Given the description of an element on the screen output the (x, y) to click on. 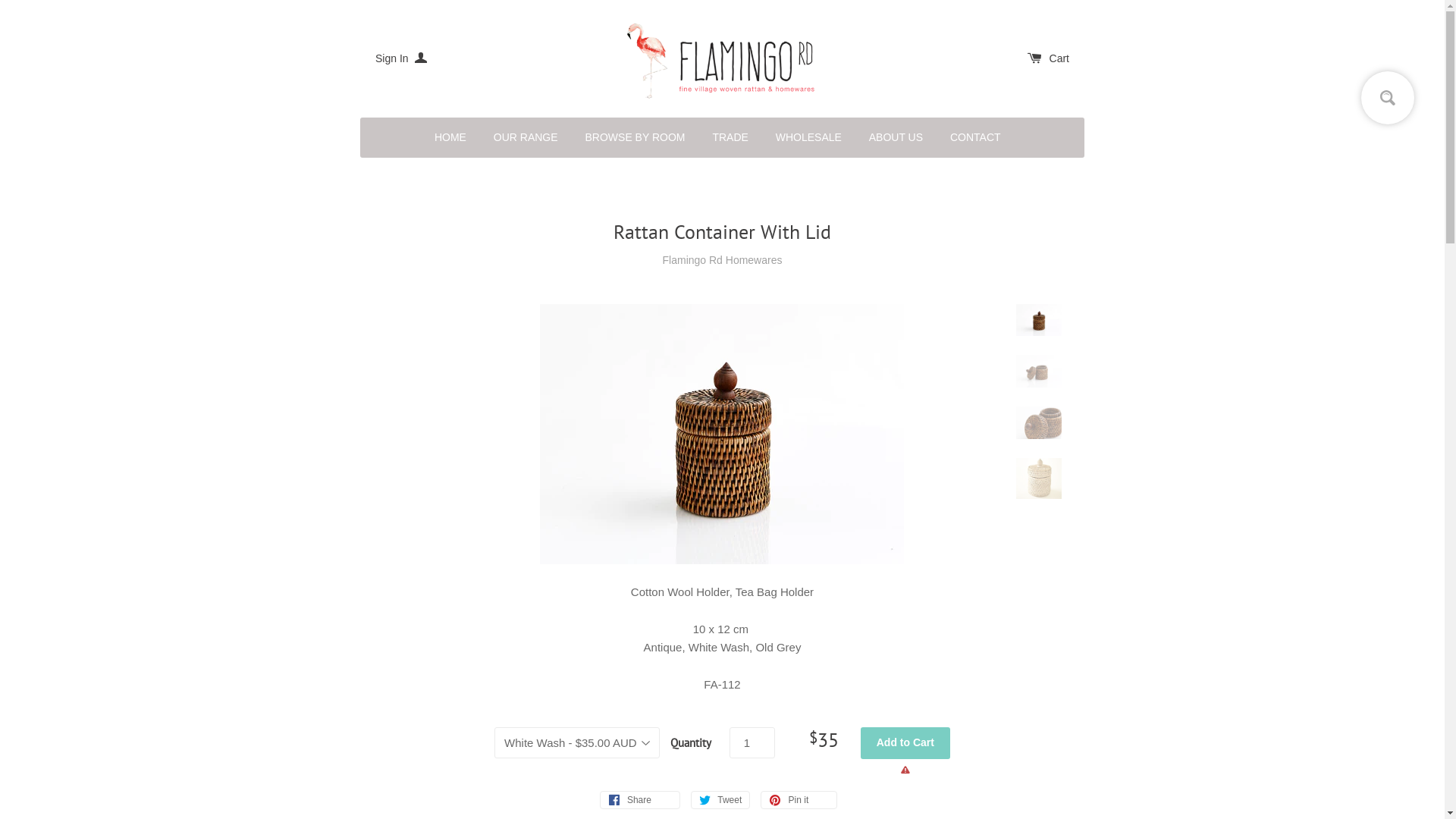
Sign In Element type: text (400, 58)
Tweet Element type: text (719, 799)
OUR RANGE Element type: text (525, 137)
Pin it Element type: text (798, 799)
BROWSE BY ROOM Element type: text (635, 137)
HOME Element type: text (450, 137)
Share Element type: text (639, 799)
Cart Element type: text (1048, 58)
CONTACT Element type: text (975, 137)
WHOLESALE Element type: text (808, 137)
ABOUT US Element type: text (895, 137)
Add to Cart Element type: text (905, 743)
TRADE Element type: text (729, 137)
